Given the description of an element on the screen output the (x, y) to click on. 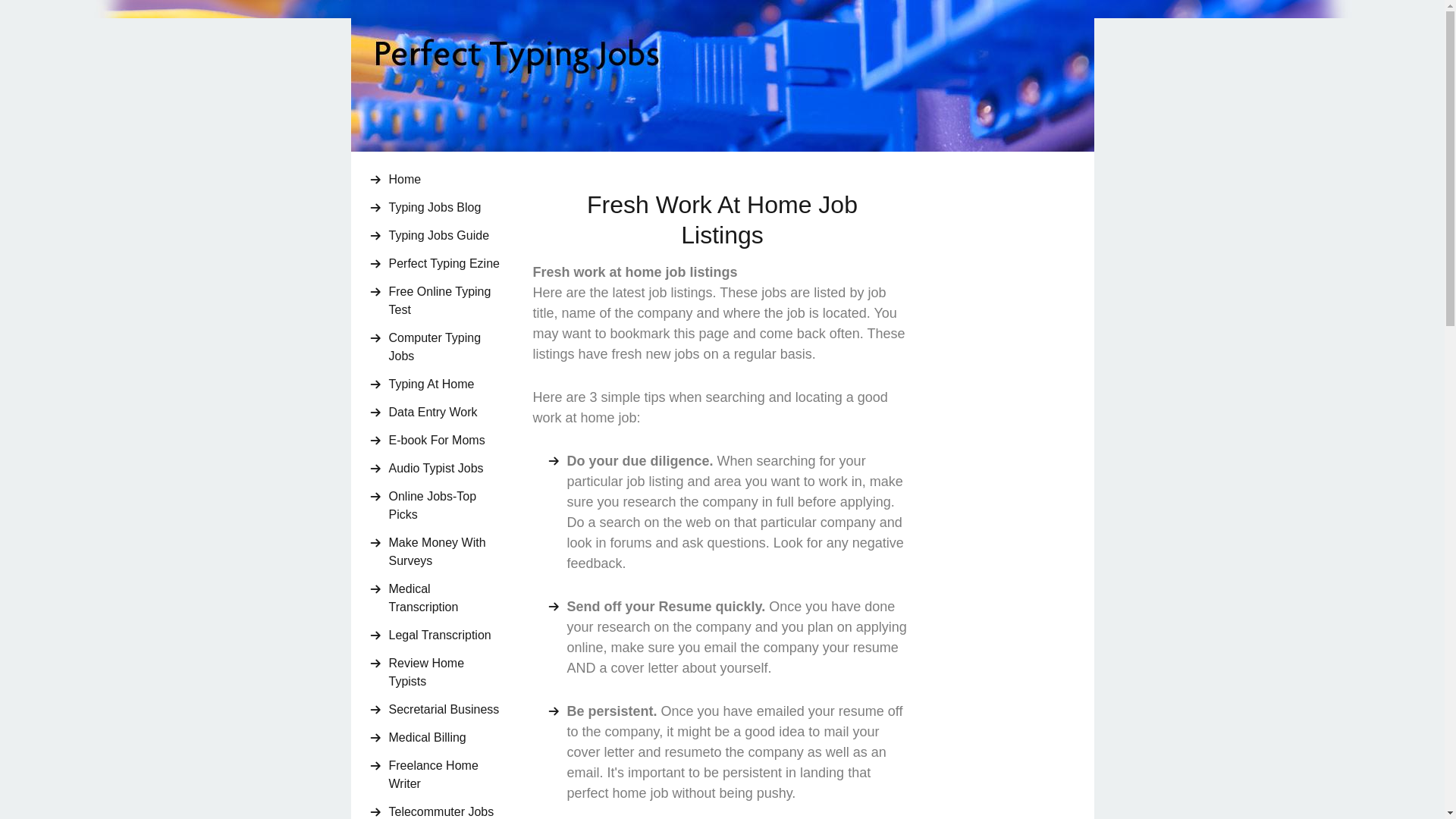
Telecommuter Jobs (445, 809)
Audio Typist Jobs (445, 468)
Make Money With Surveys (445, 551)
Typing Jobs Guide (445, 235)
Medical Billing (445, 737)
Review Home Typists (445, 672)
Typing Jobs Blog (445, 207)
Perfect Typing Ezine (445, 263)
E-book For Moms (445, 440)
Computer Typing Jobs (445, 347)
